Given the description of an element on the screen output the (x, y) to click on. 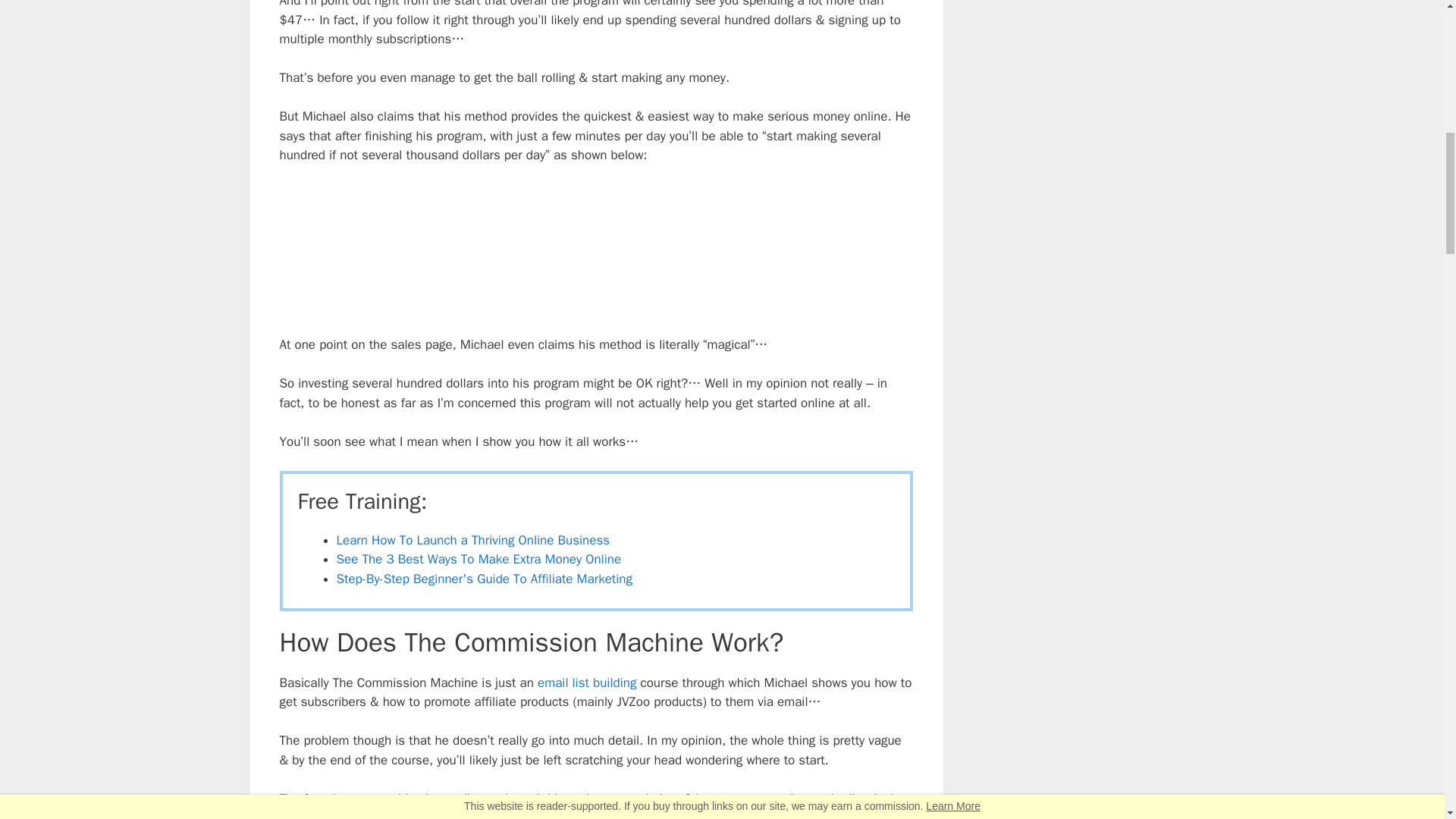
Step-By-Step Beginner's Guide To Affiliate Marketing (483, 578)
email list building (586, 682)
Learn How To Launch a Thriving Online Business (473, 539)
See The 3 Best Ways To Make Extra Money Online (478, 559)
